Given the description of an element on the screen output the (x, y) to click on. 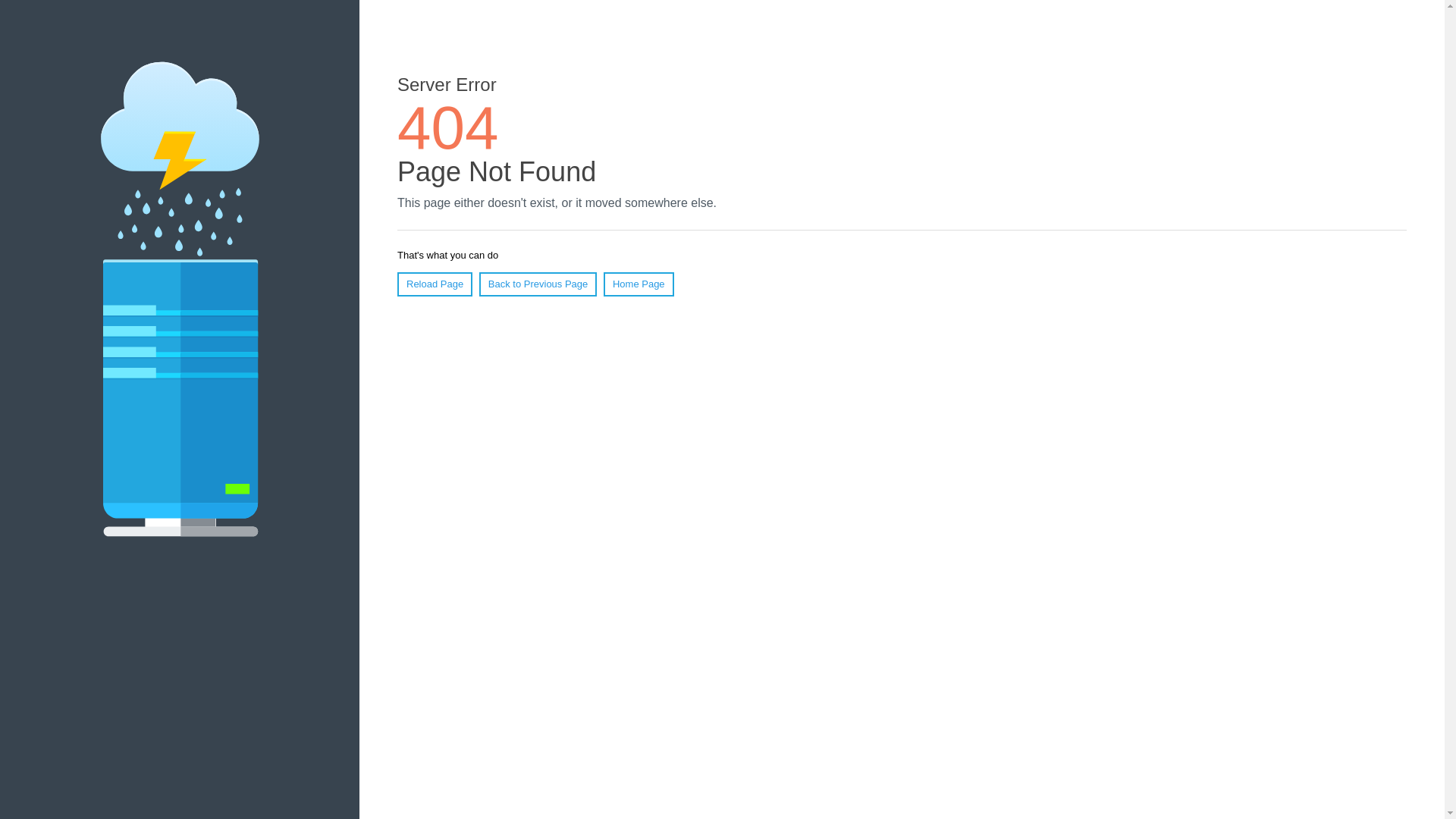
Reload Page Element type: text (434, 284)
Back to Previous Page Element type: text (538, 284)
Home Page Element type: text (638, 284)
